Given the description of an element on the screen output the (x, y) to click on. 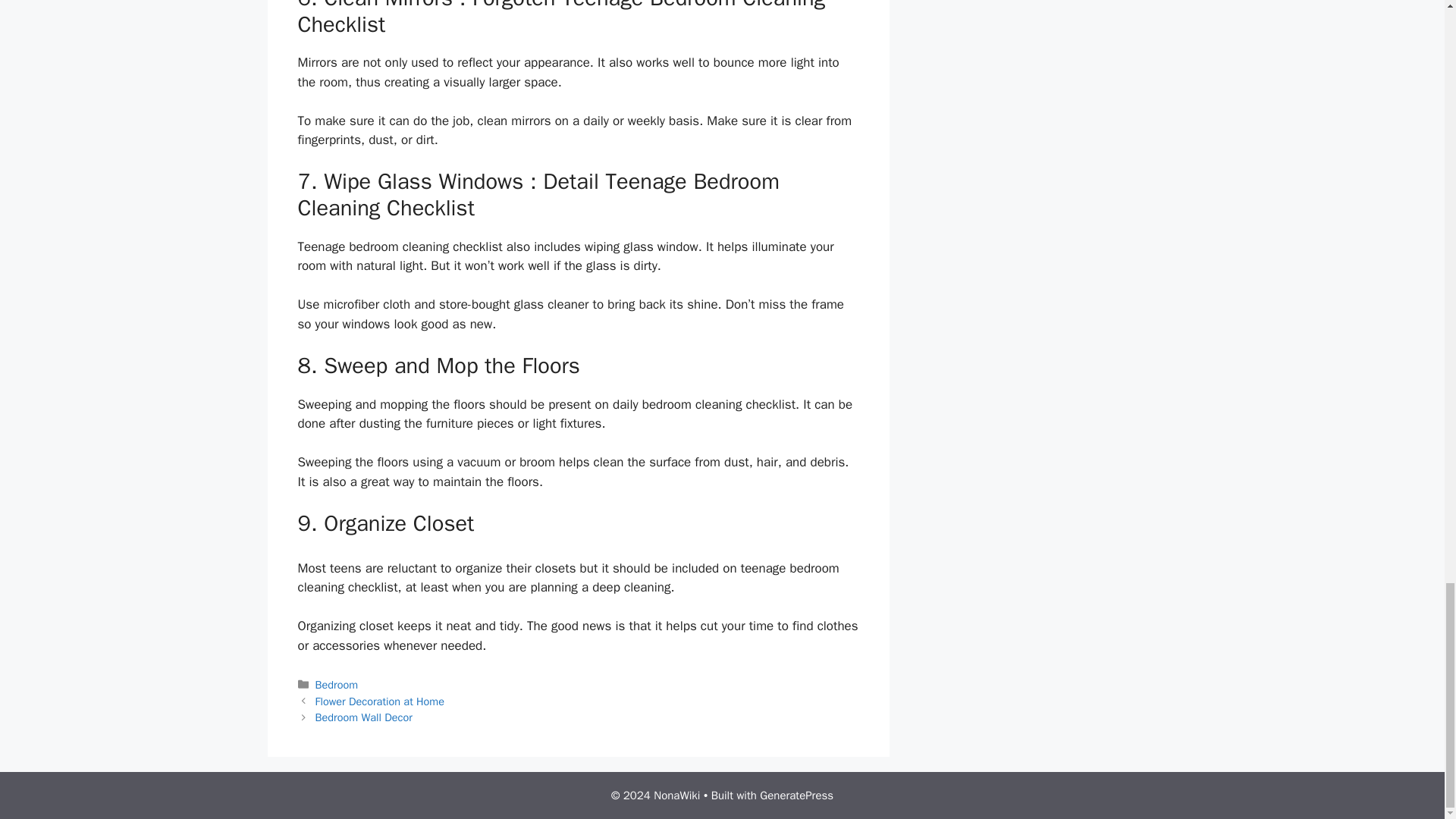
Flower Decoration at Home (379, 701)
Bedroom (336, 684)
Previous (379, 701)
Bedroom Wall Decor (363, 716)
Next (363, 716)
